Given the description of an element on the screen output the (x, y) to click on. 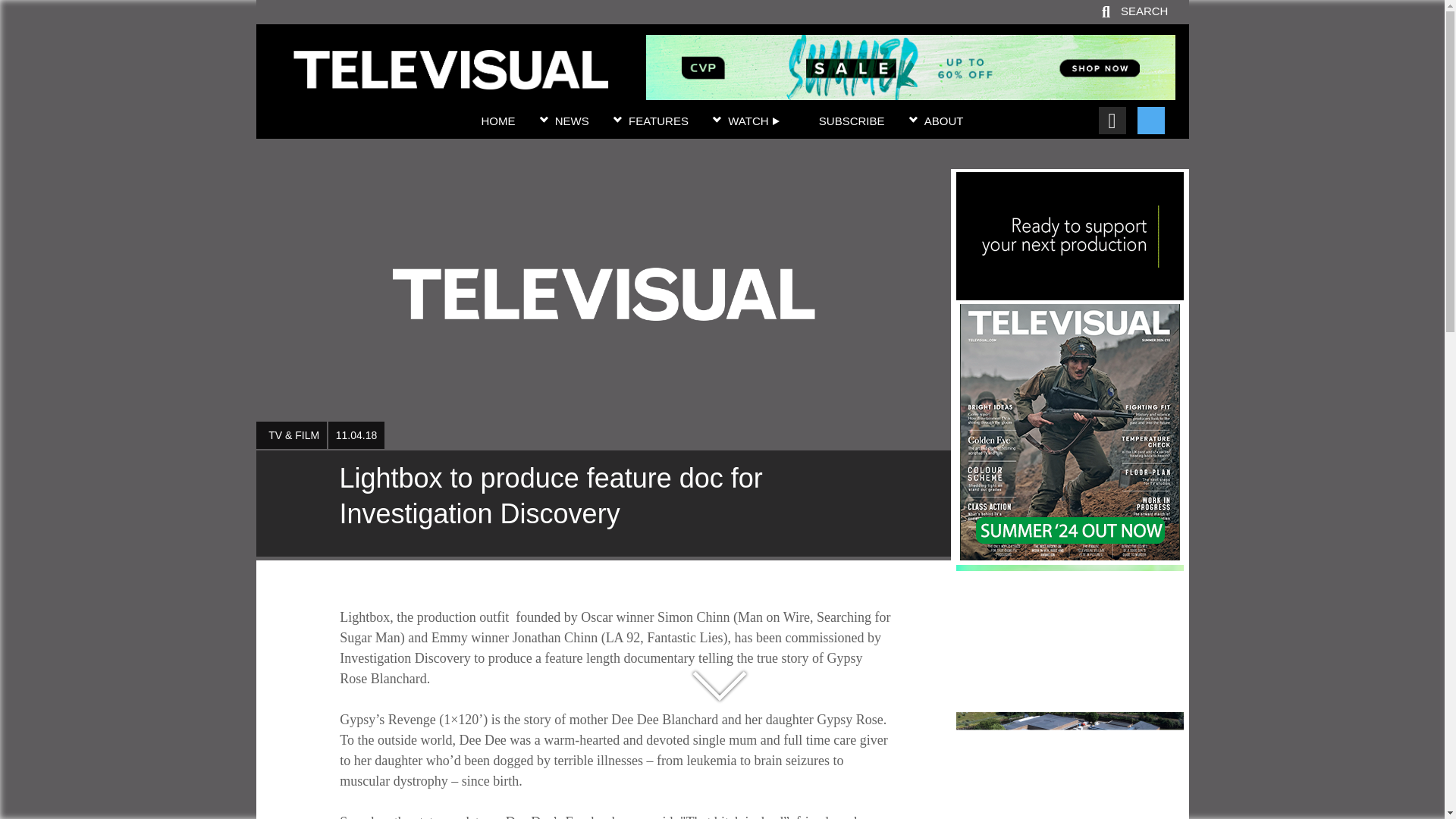
FEATURES (658, 121)
ABOUT (943, 121)
SUBSCRIBE (851, 121)
11.04.18 (356, 434)
NEWS (571, 121)
HOME (497, 121)
Lightbox to produce feature doc for Investigation Discovery (603, 503)
WATCH (753, 121)
Lightbox to produce feature doc for Investigation Discovery (451, 80)
